Given the description of an element on the screen output the (x, y) to click on. 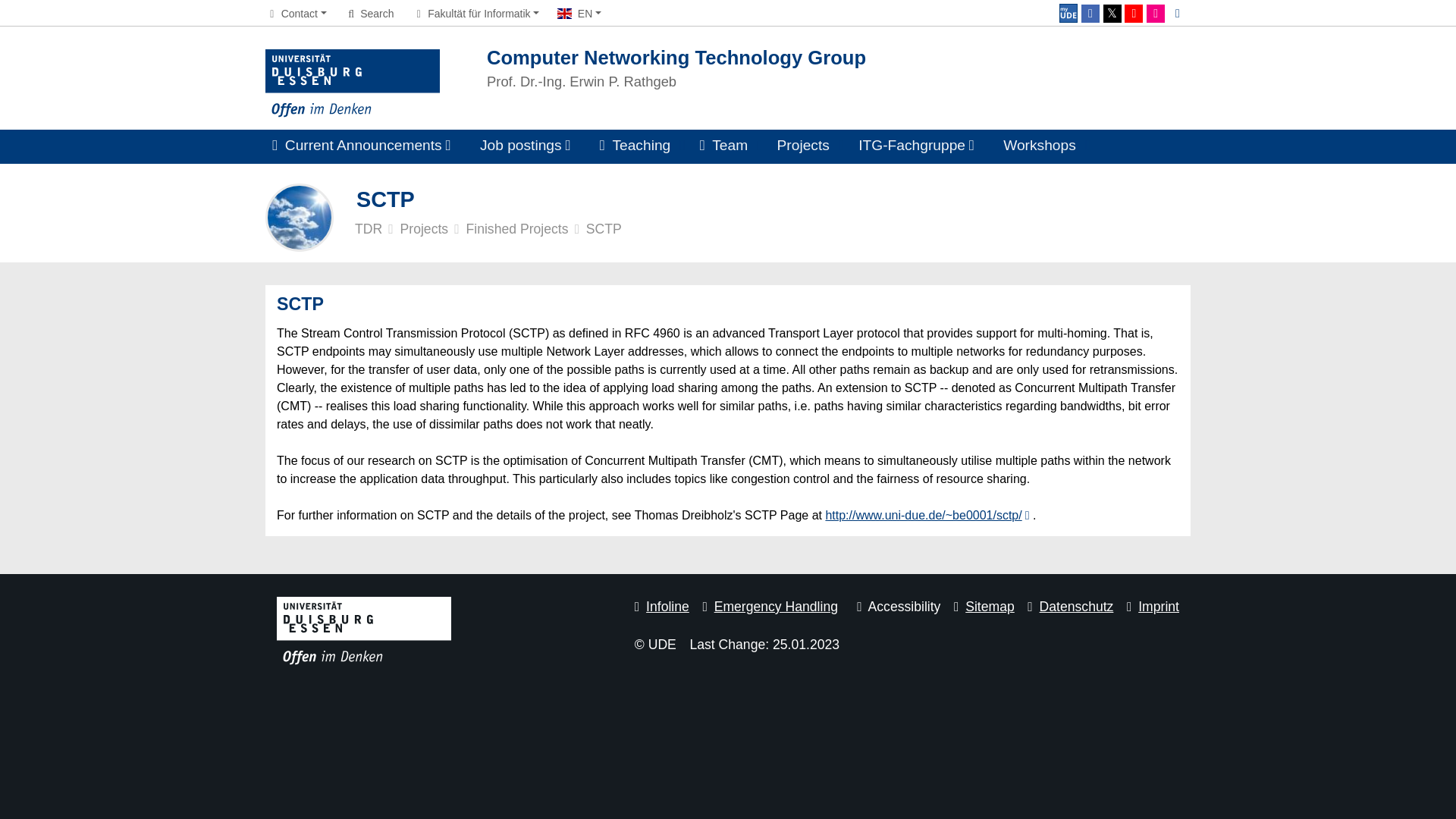
myUDE (1068, 13)
Contact (295, 13)
Team (722, 146)
Teaching (635, 146)
Current Announcements (361, 146)
YouTube (1133, 13)
Job postings (525, 146)
Projects (802, 146)
Flickr (1155, 13)
Search (368, 13)
Twitter (1112, 13)
EN (579, 13)
Facebook (1090, 13)
Visit the main page of the University of Duisburg-Essen (351, 83)
